Given the description of an element on the screen output the (x, y) to click on. 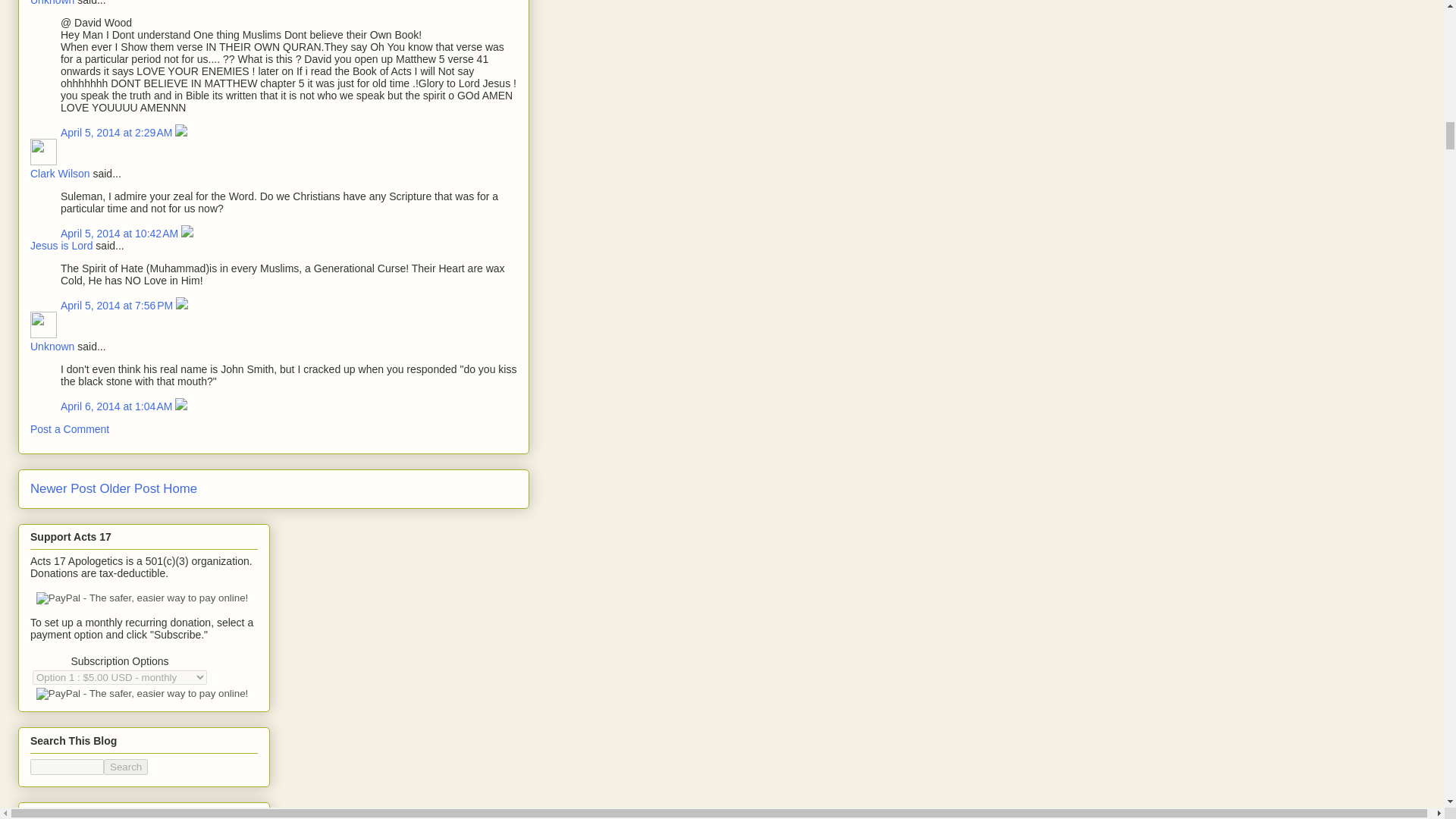
Search (125, 766)
Search (125, 766)
